Given the description of an element on the screen output the (x, y) to click on. 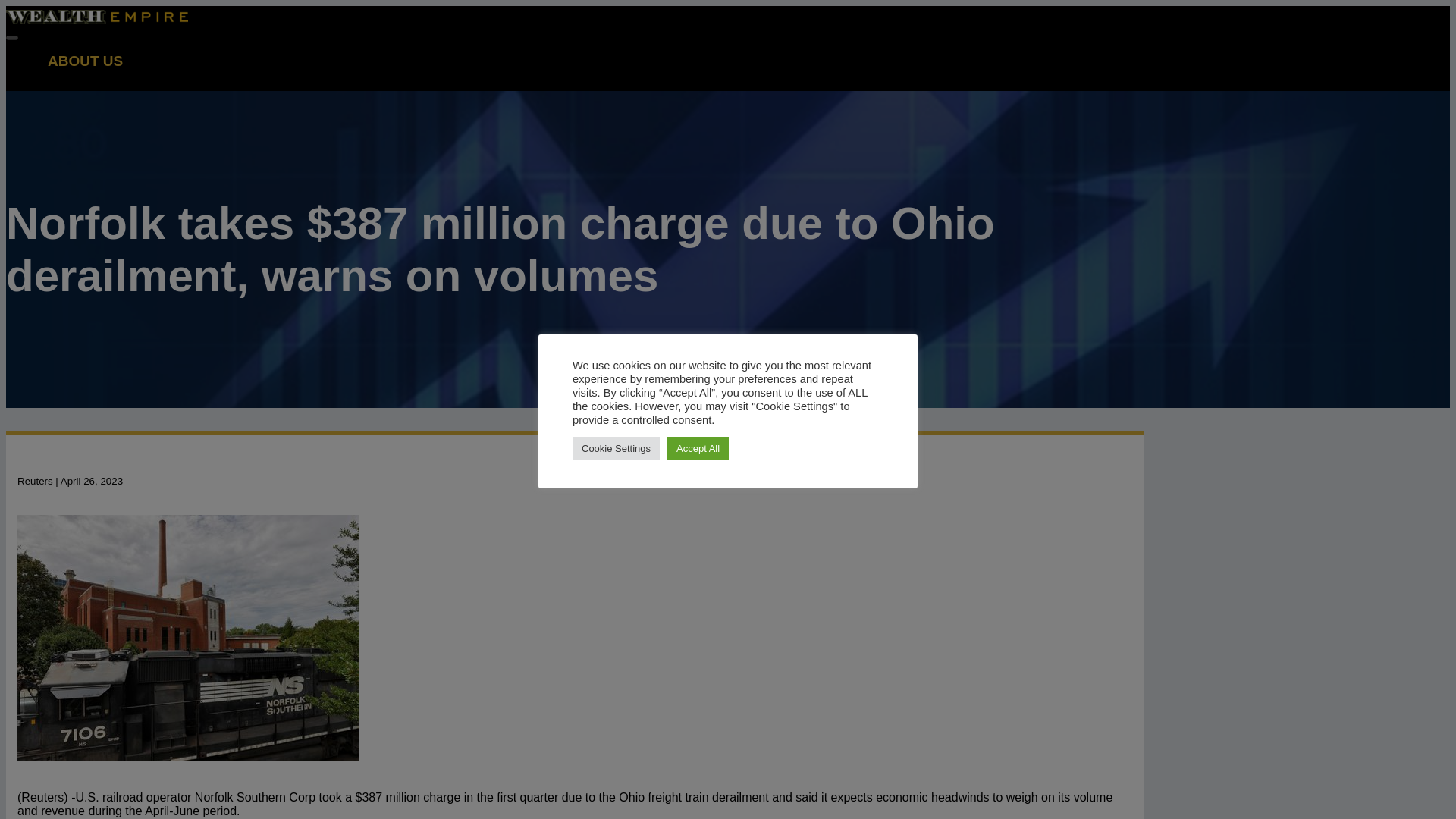
Accept All (697, 448)
ABOUT US (85, 61)
Cookie Settings (615, 448)
